Given the description of an element on the screen output the (x, y) to click on. 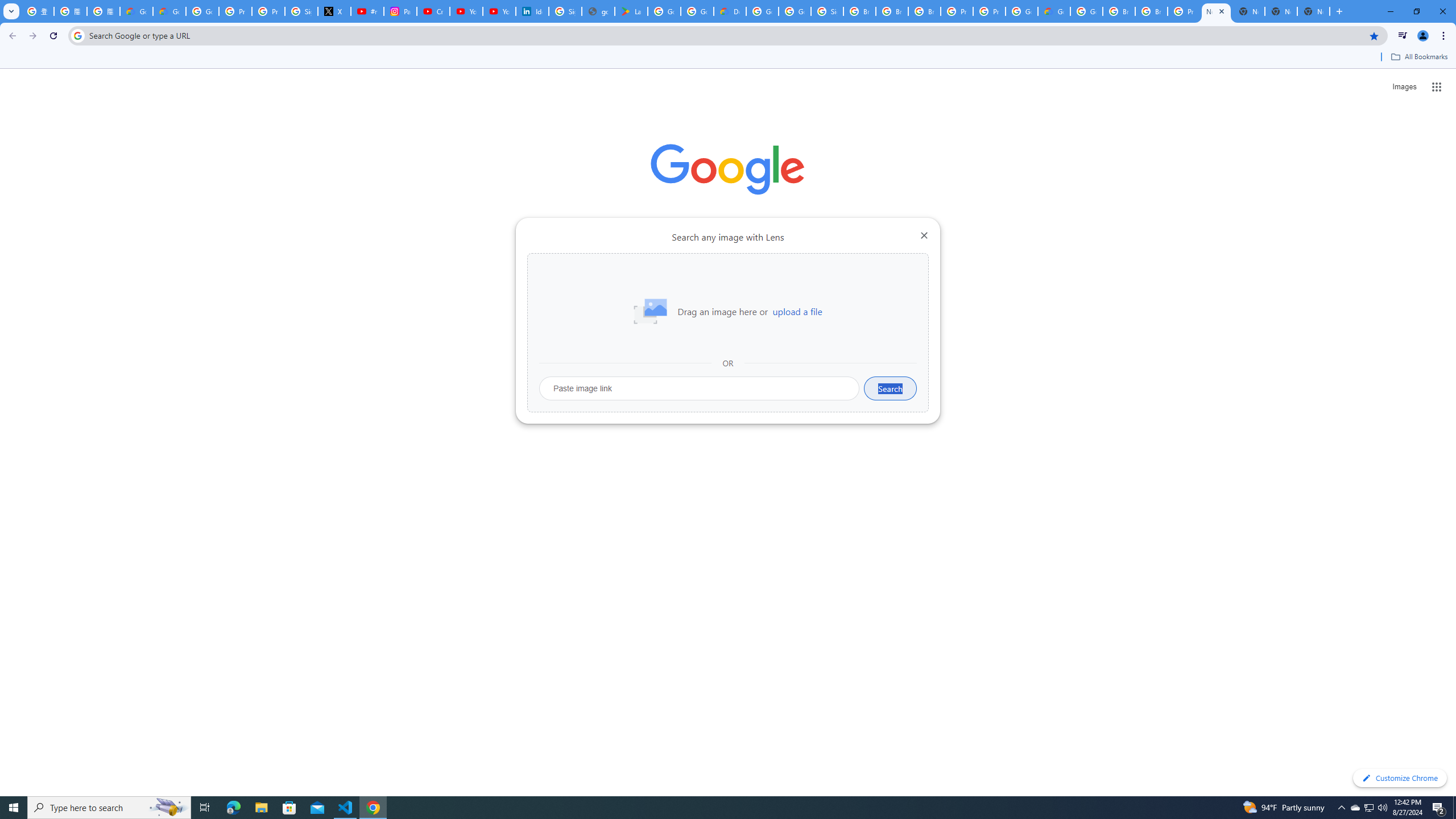
Google apps (1436, 86)
New Tab (1313, 11)
google_privacy_policy_en.pdf (598, 11)
Paste image link (699, 388)
Add shortcut (727, 287)
Google Cloud Privacy Notice (136, 11)
X (334, 11)
